Given the description of an element on the screen output the (x, y) to click on. 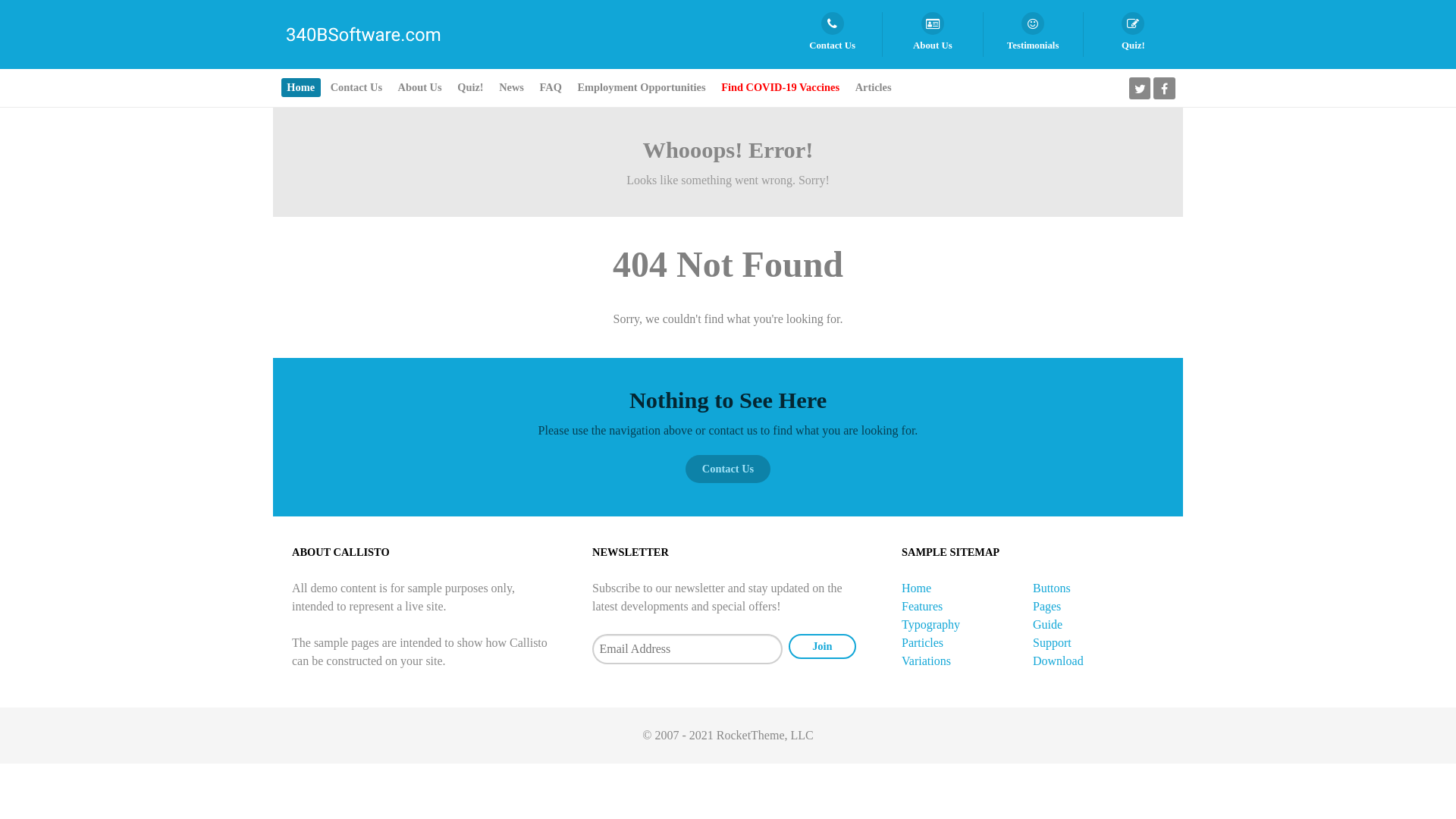
Join Element type: text (822, 645)
Contact Us Element type: text (832, 34)
Employment Opportunities Element type: text (641, 87)
Variations Element type: text (925, 660)
Download Element type: text (1057, 660)
Home Element type: text (300, 87)
Testimonials Element type: text (1032, 34)
News Element type: text (511, 87)
About Us Element type: text (932, 34)
Quiz! Element type: text (470, 87)
Guide Element type: text (1047, 624)
Contact Us Element type: text (355, 87)
Contact Us Element type: text (727, 469)
Typography Element type: text (930, 624)
Quiz! Element type: text (1133, 34)
Find COVID-19 Vaccines Element type: text (780, 87)
Particles Element type: text (922, 642)
Buttons Element type: text (1051, 587)
About Us Element type: text (419, 87)
Home Element type: text (916, 587)
Features Element type: text (921, 605)
Pages Element type: text (1046, 605)
FAQ Element type: text (550, 87)
Articles Element type: text (873, 87)
Support Element type: text (1051, 642)
